Given the description of an element on the screen output the (x, y) to click on. 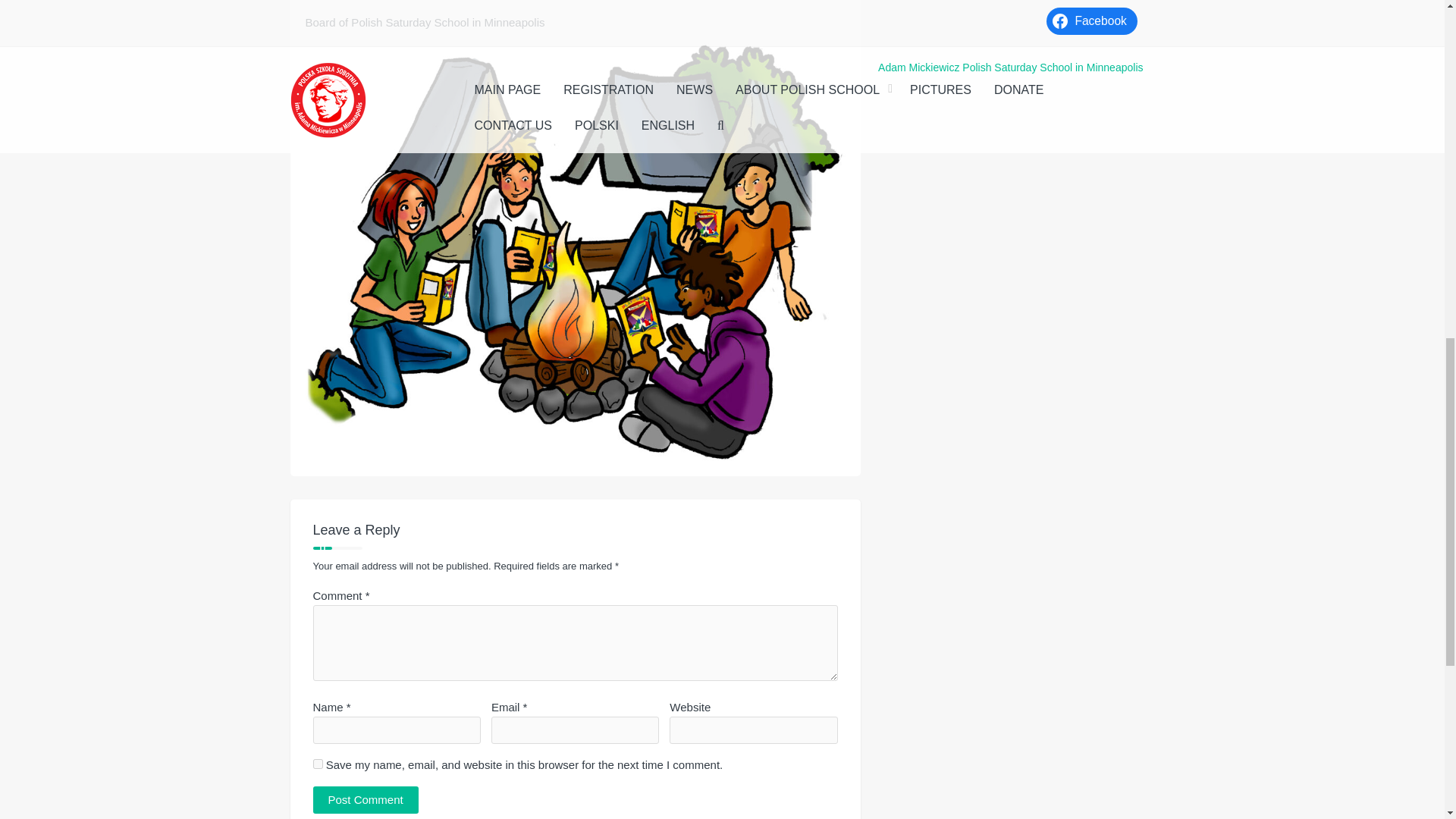
Post Comment (365, 800)
Post Comment (365, 800)
yes (317, 764)
